Given the description of an element on the screen output the (x, y) to click on. 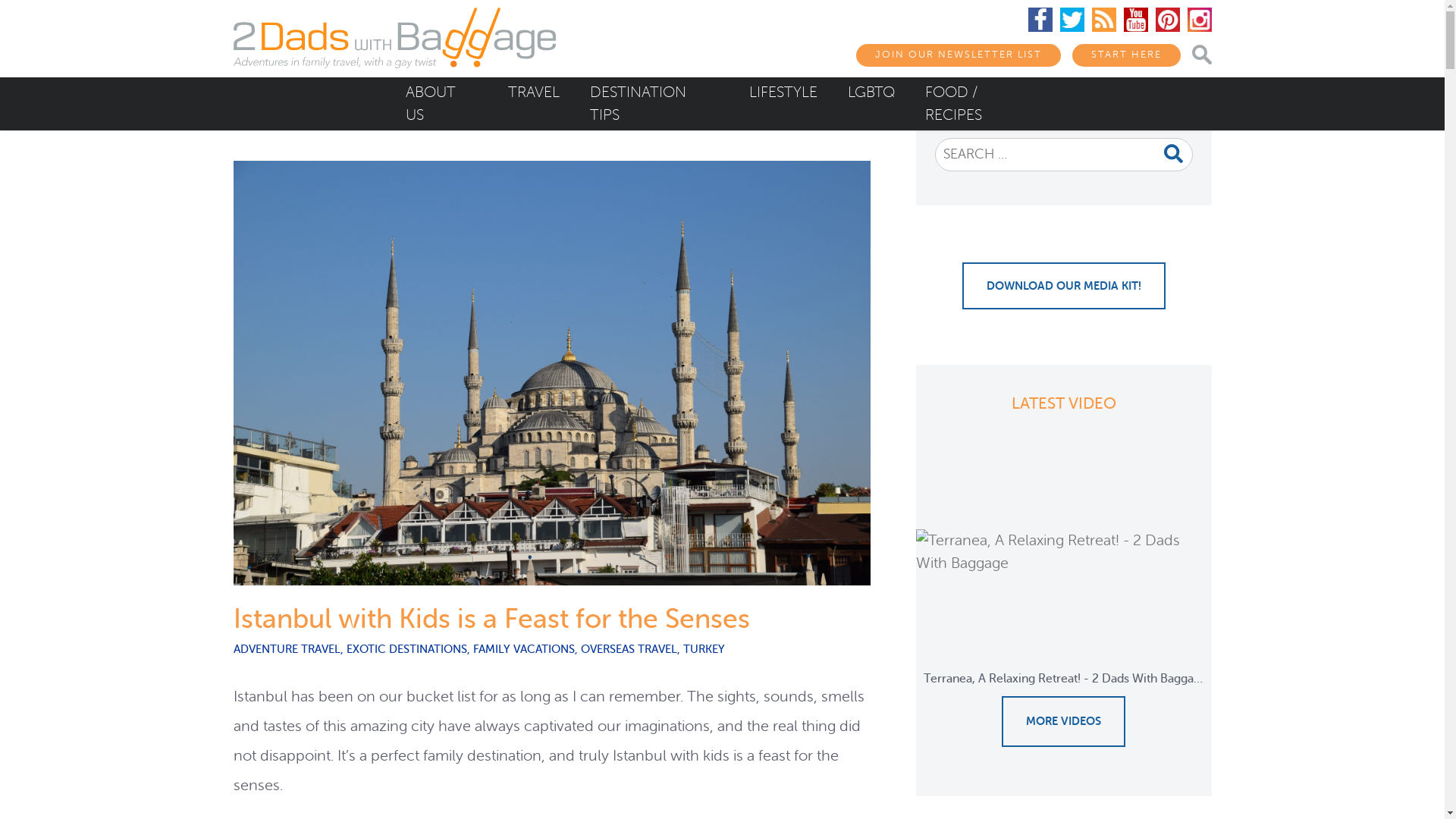
JOIN OUR NEWSLETTER LIST Element type: text (957, 54)
ABOUT US Element type: text (441, 103)
Terranea, A Relaxing Retreat! - 2 Dads With Baggage Element type: text (1063, 569)
FAMILY VACATIONS Element type: text (523, 649)
DESTINATION TIPS Element type: text (654, 103)
LGBTQ Element type: text (871, 92)
LIFESTYLE Element type: text (783, 92)
MORE VIDEOS Element type: text (1063, 721)
DOWNLOAD OUR MEDIA KIT! Element type: text (1062, 285)
TURKEY Element type: text (703, 649)
ADVENTURE TRAVEL Element type: text (286, 649)
OVERSEAS TRAVEL Element type: text (628, 649)
FOOD / RECIPES Element type: text (982, 103)
EXOTIC DESTINATIONS Element type: text (405, 649)
START HERE Element type: text (1126, 54)
Search Element type: text (958, 154)
TRAVEL Element type: text (533, 92)
